Given the description of an element on the screen output the (x, y) to click on. 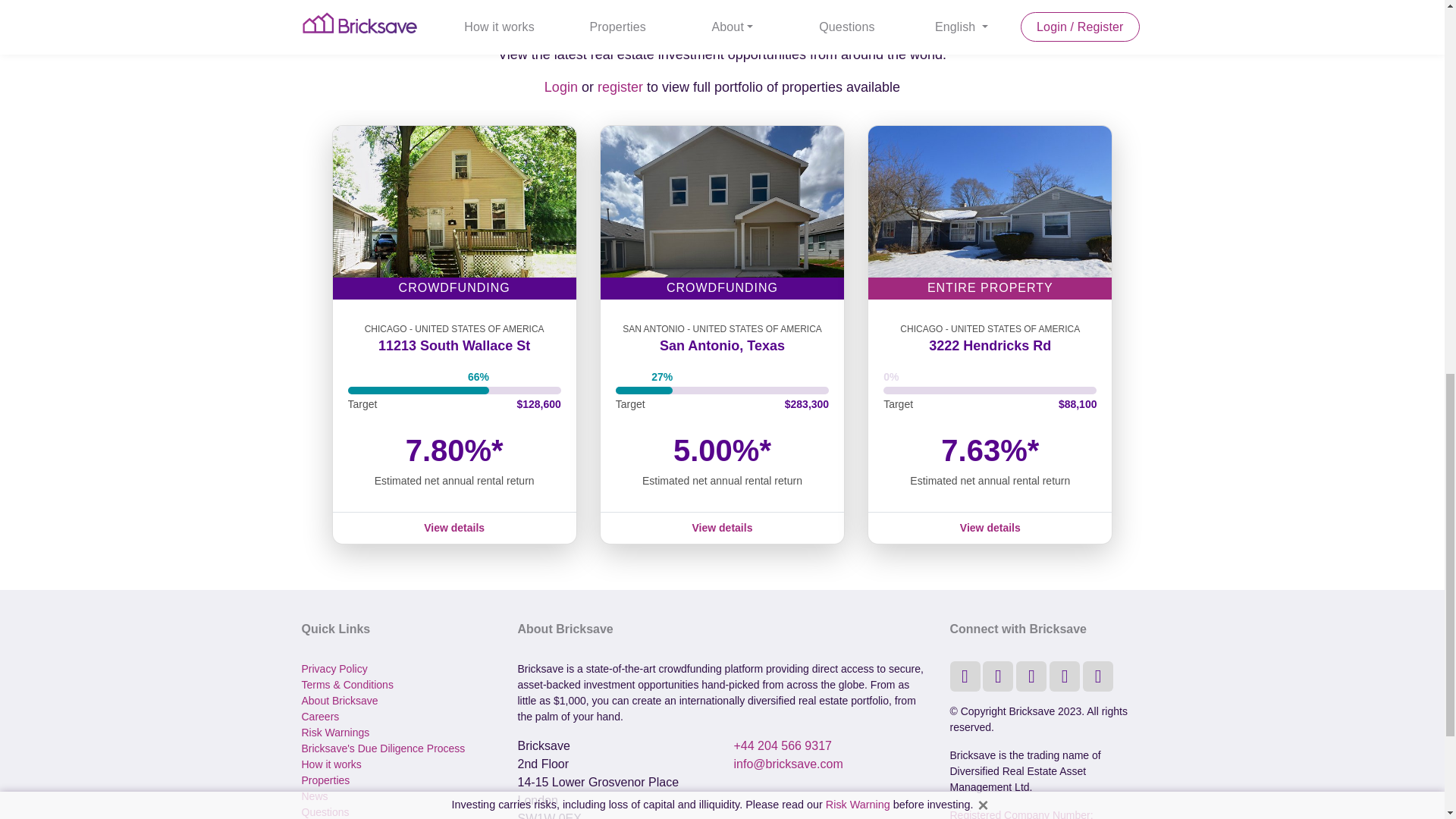
register (619, 86)
View details (989, 527)
CROWDFUNDING (721, 212)
Login (561, 86)
CROWDFUNDING (453, 212)
ENTIRE PROPERTY (989, 212)
View details (453, 527)
View details (721, 527)
